Given the description of an element on the screen output the (x, y) to click on. 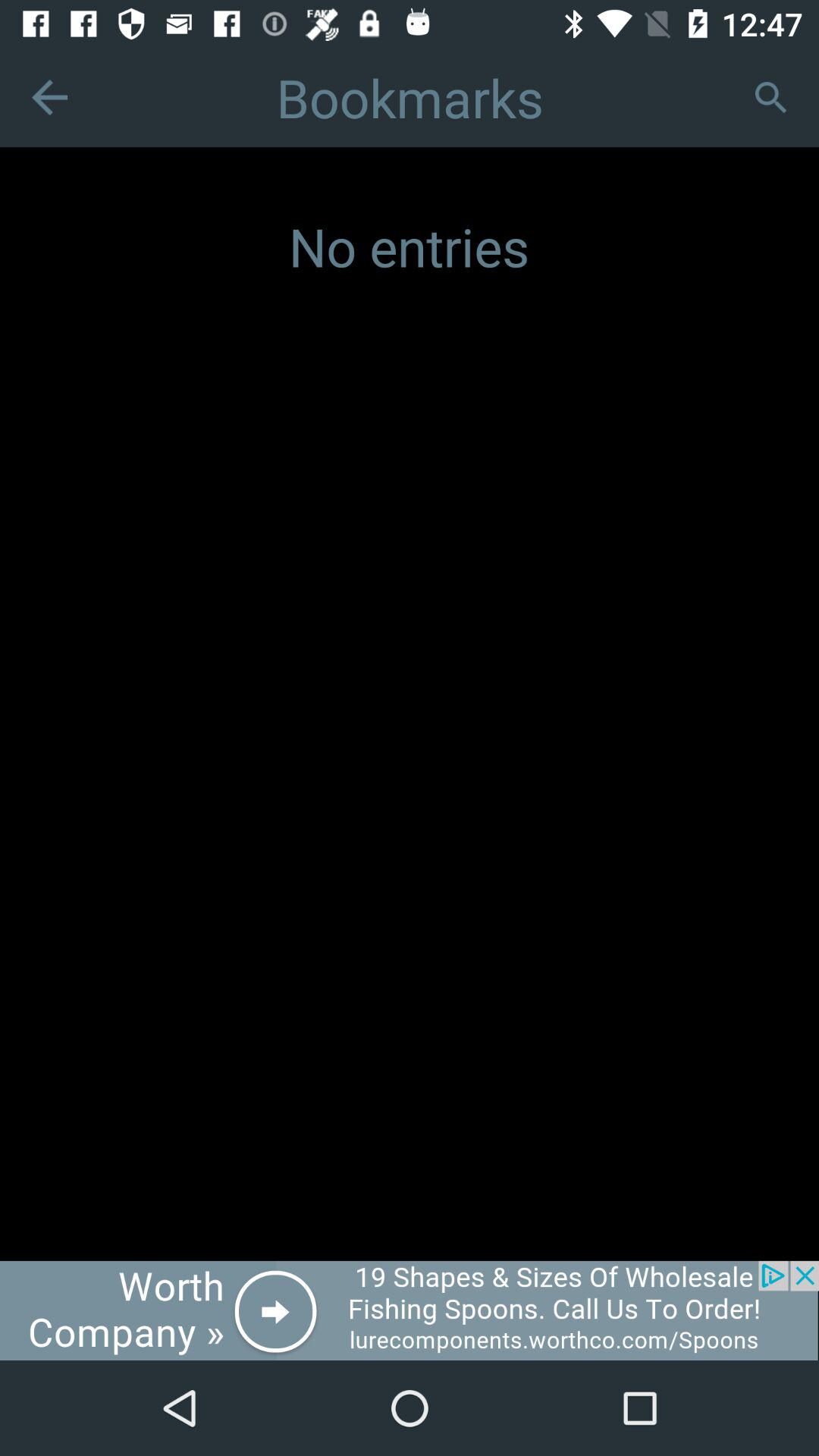
go back (49, 97)
